Given the description of an element on the screen output the (x, y) to click on. 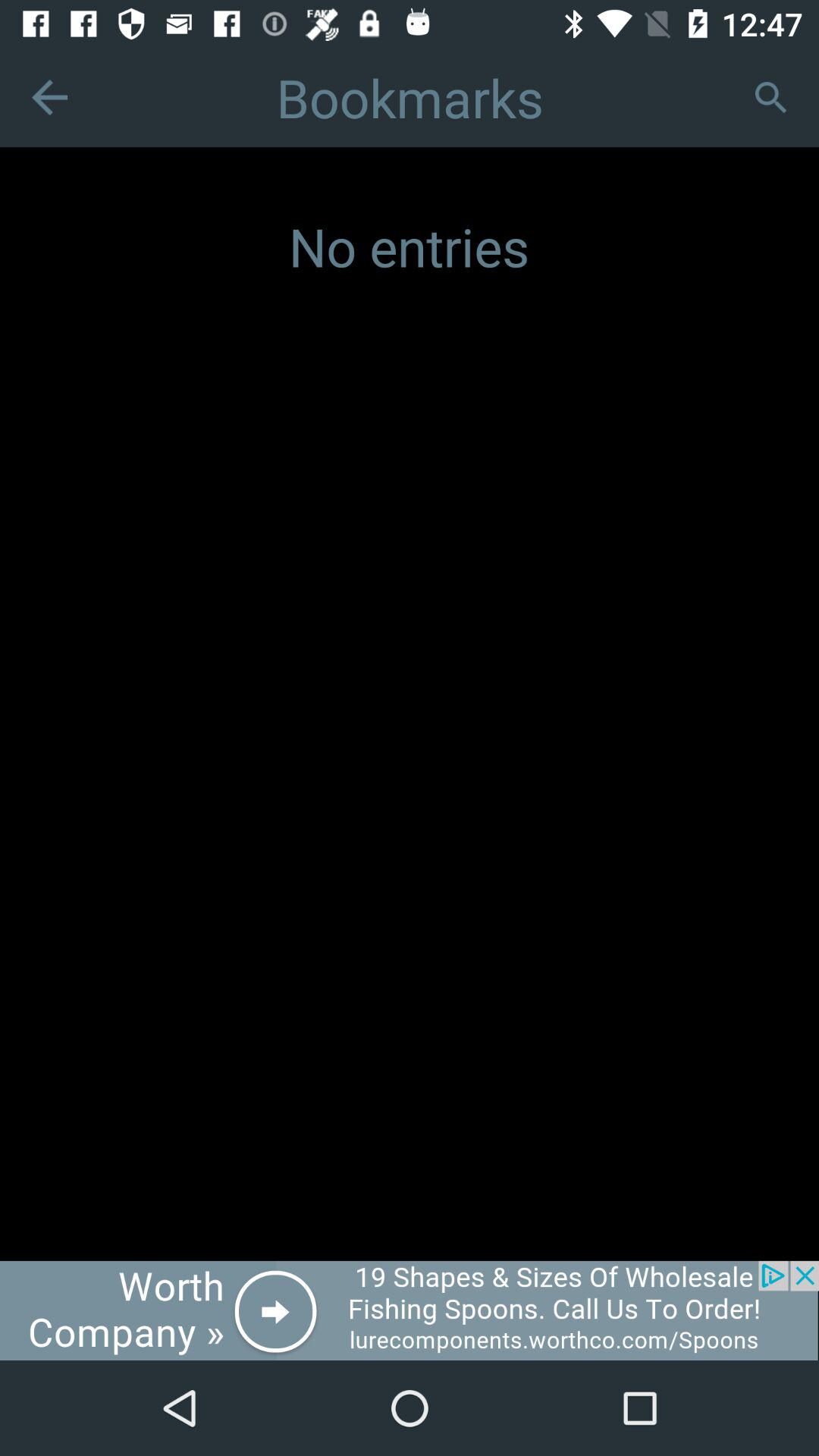
go back (49, 97)
